Given the description of an element on the screen output the (x, y) to click on. 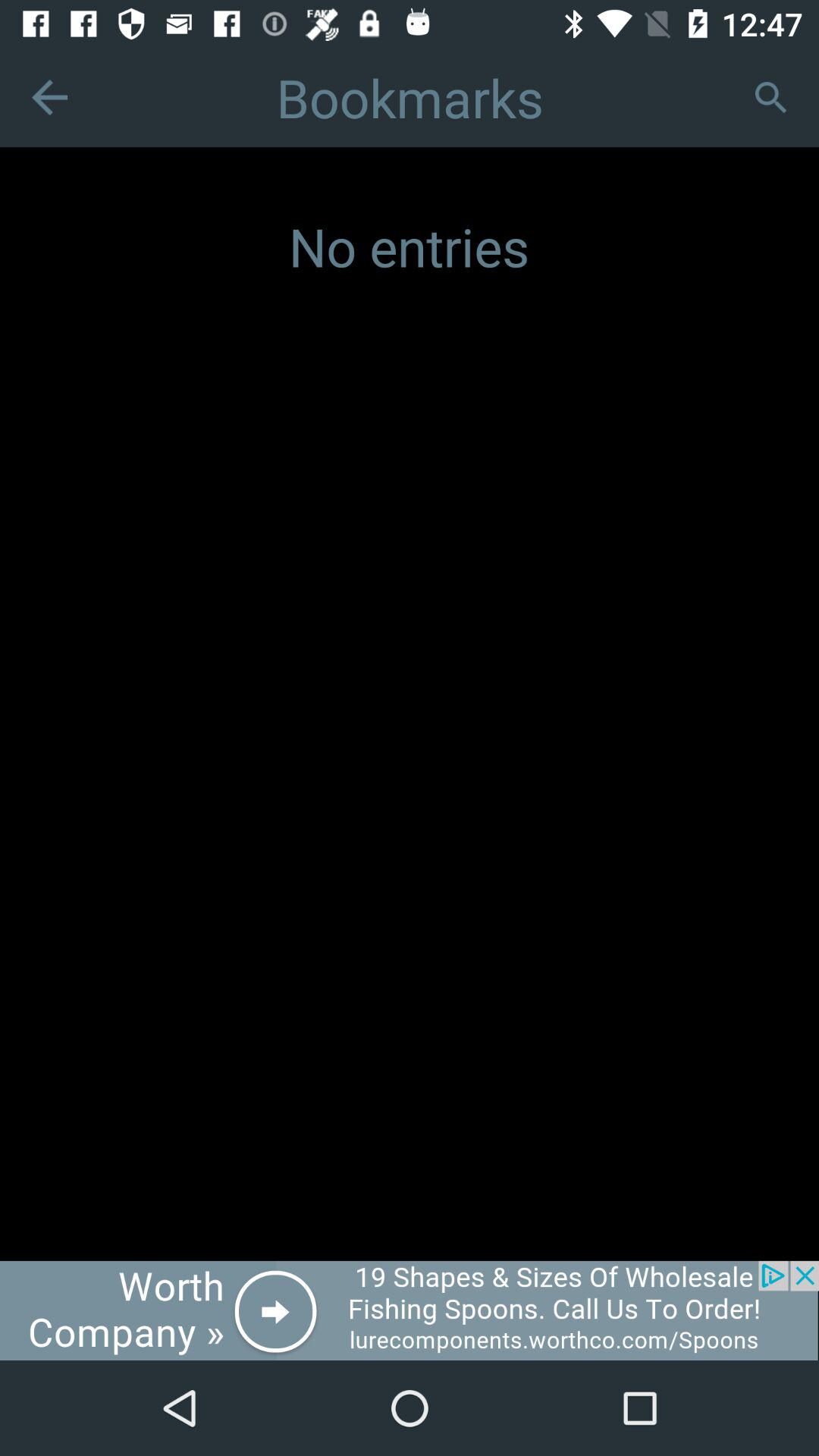
go back (49, 97)
